Given the description of an element on the screen output the (x, y) to click on. 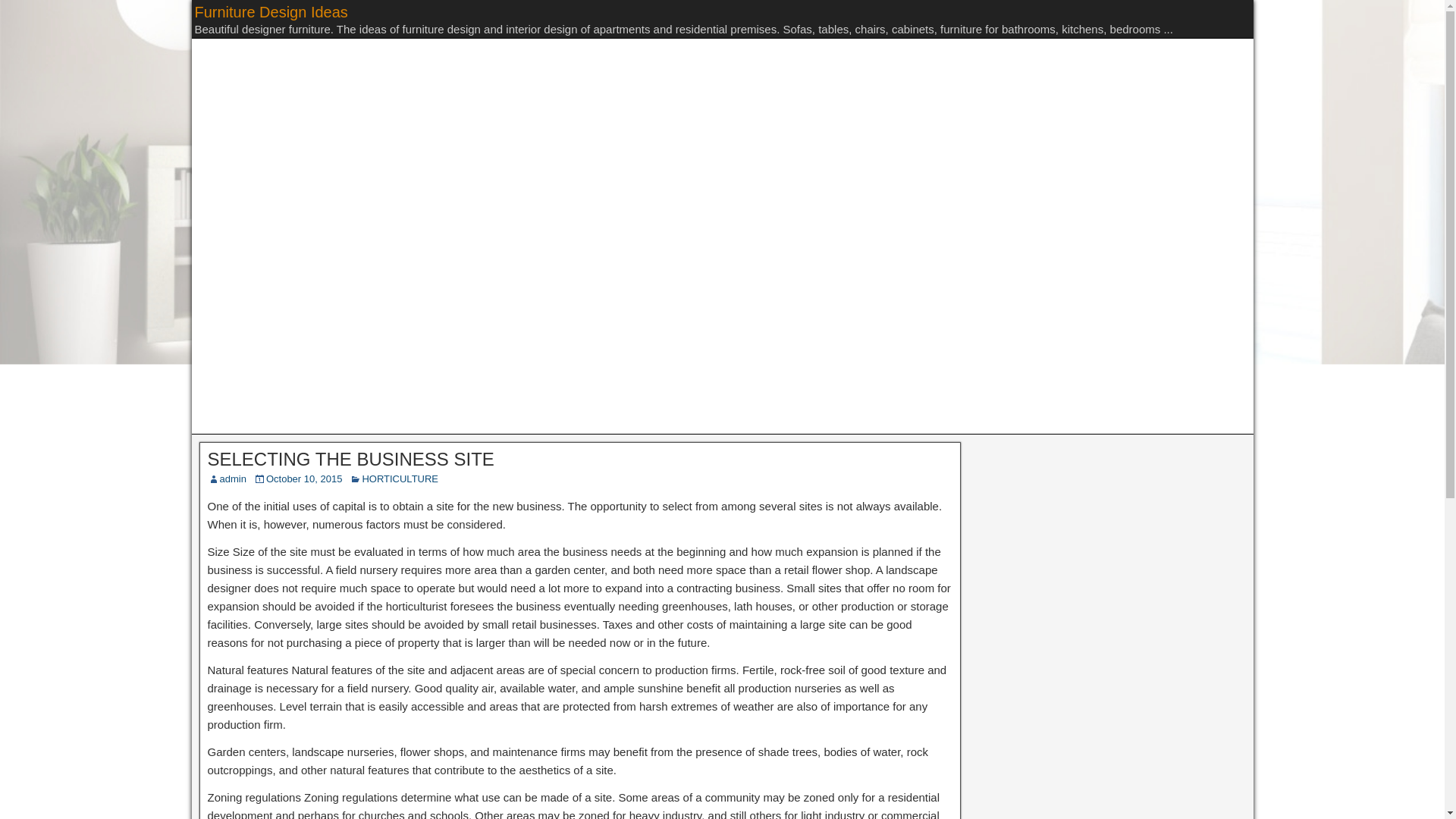
Furniture Design Ideas (270, 12)
admin (232, 478)
October 10, 2015 (304, 478)
HORTICULTURE (399, 478)
SELECTING THE BUSINESS SITE (351, 458)
